Given the description of an element on the screen output the (x, y) to click on. 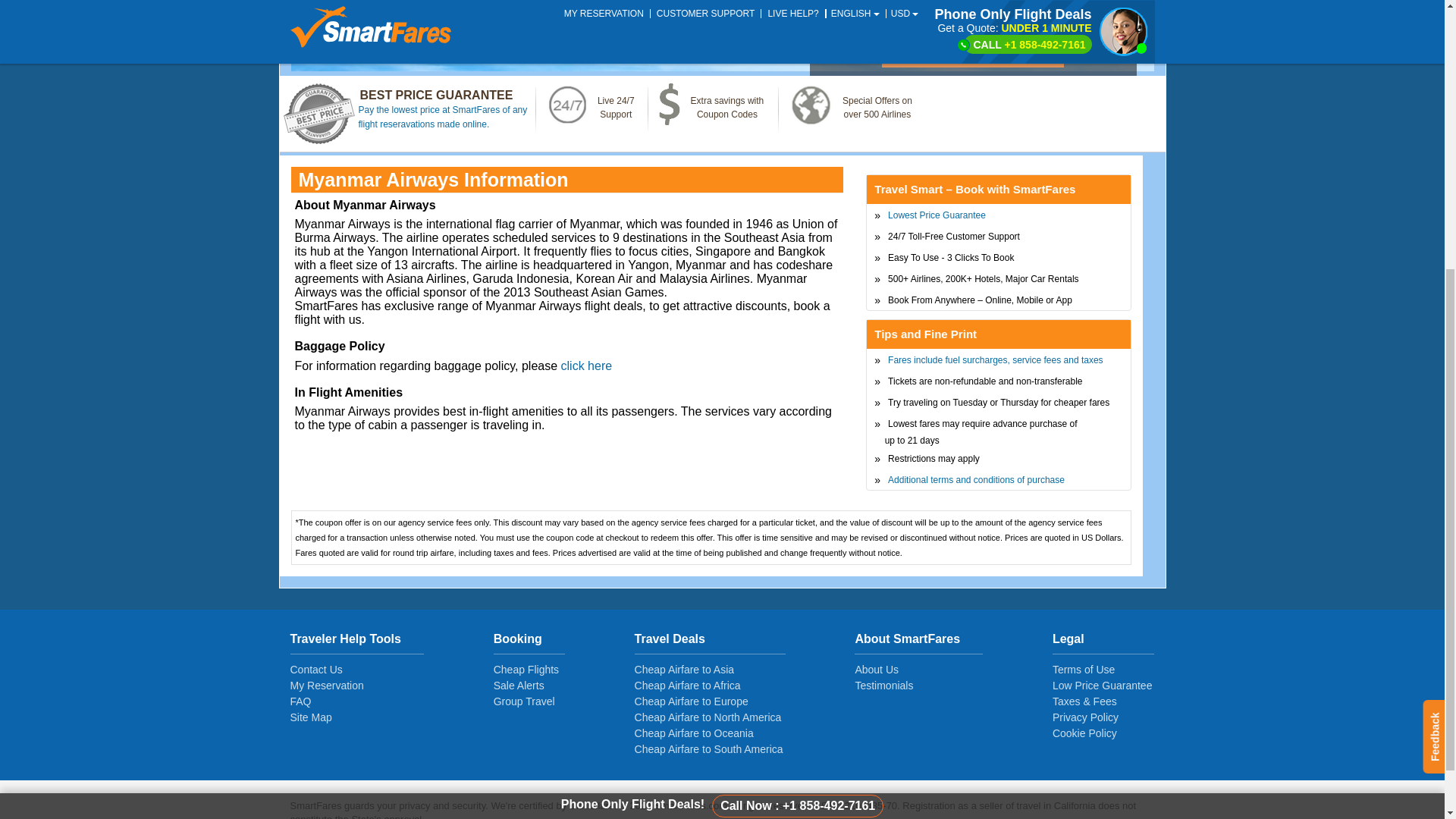
Opens a widget where you can chat to one of our agents (1385, 370)
